Given the description of an element on the screen output the (x, y) to click on. 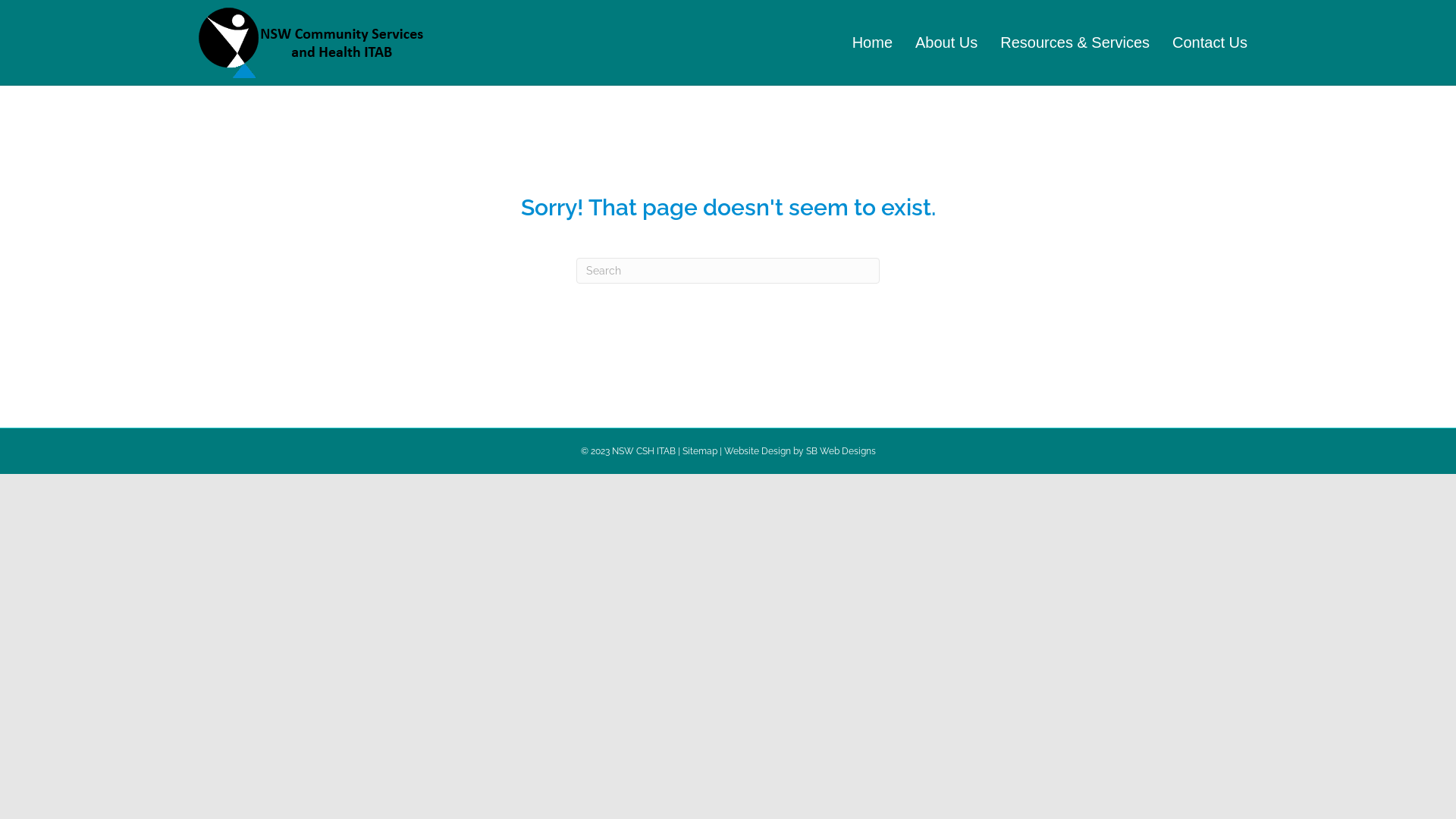
Contact Us Element type: text (1209, 42)
Home Element type: text (871, 42)
Type and press Enter to search. Element type: hover (727, 270)
About Us Element type: text (945, 42)
Sitemap Element type: text (699, 450)
Resources & Services Element type: text (1074, 42)
SB Web Designs Element type: text (840, 450)
